Given the description of an element on the screen output the (x, y) to click on. 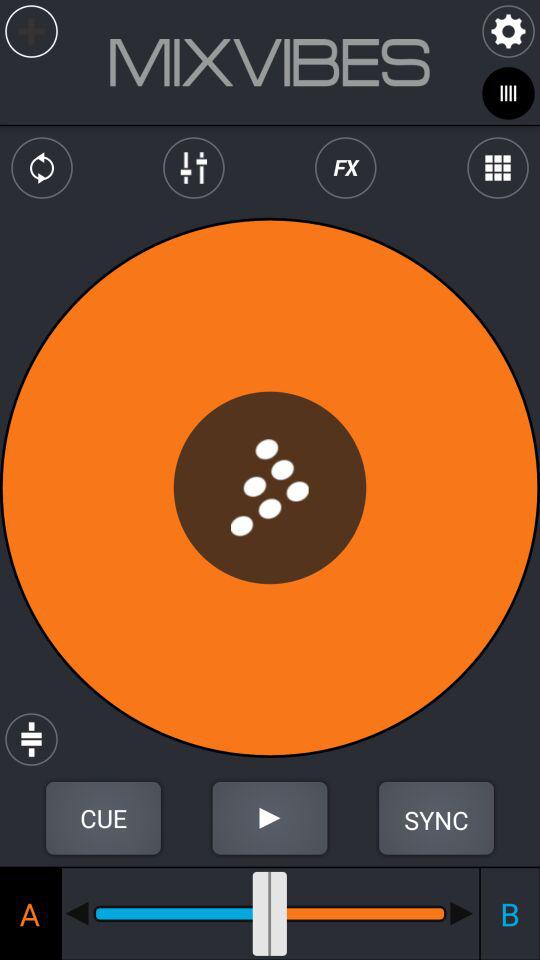
sync button (436, 818)
